Given the description of an element on the screen output the (x, y) to click on. 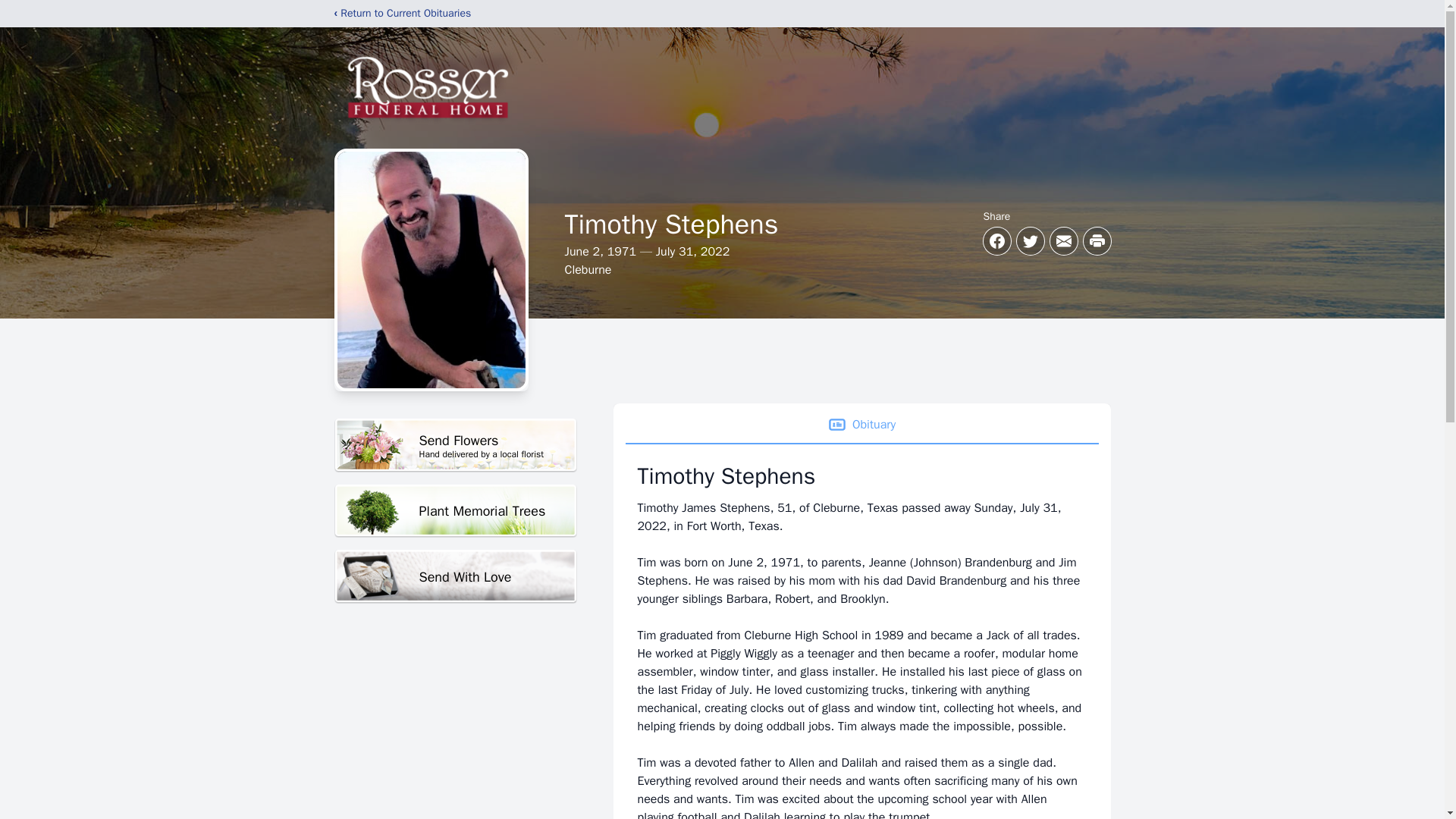
Send With Love (454, 576)
Obituary (860, 425)
Plant Memorial Trees (454, 445)
